Given the description of an element on the screen output the (x, y) to click on. 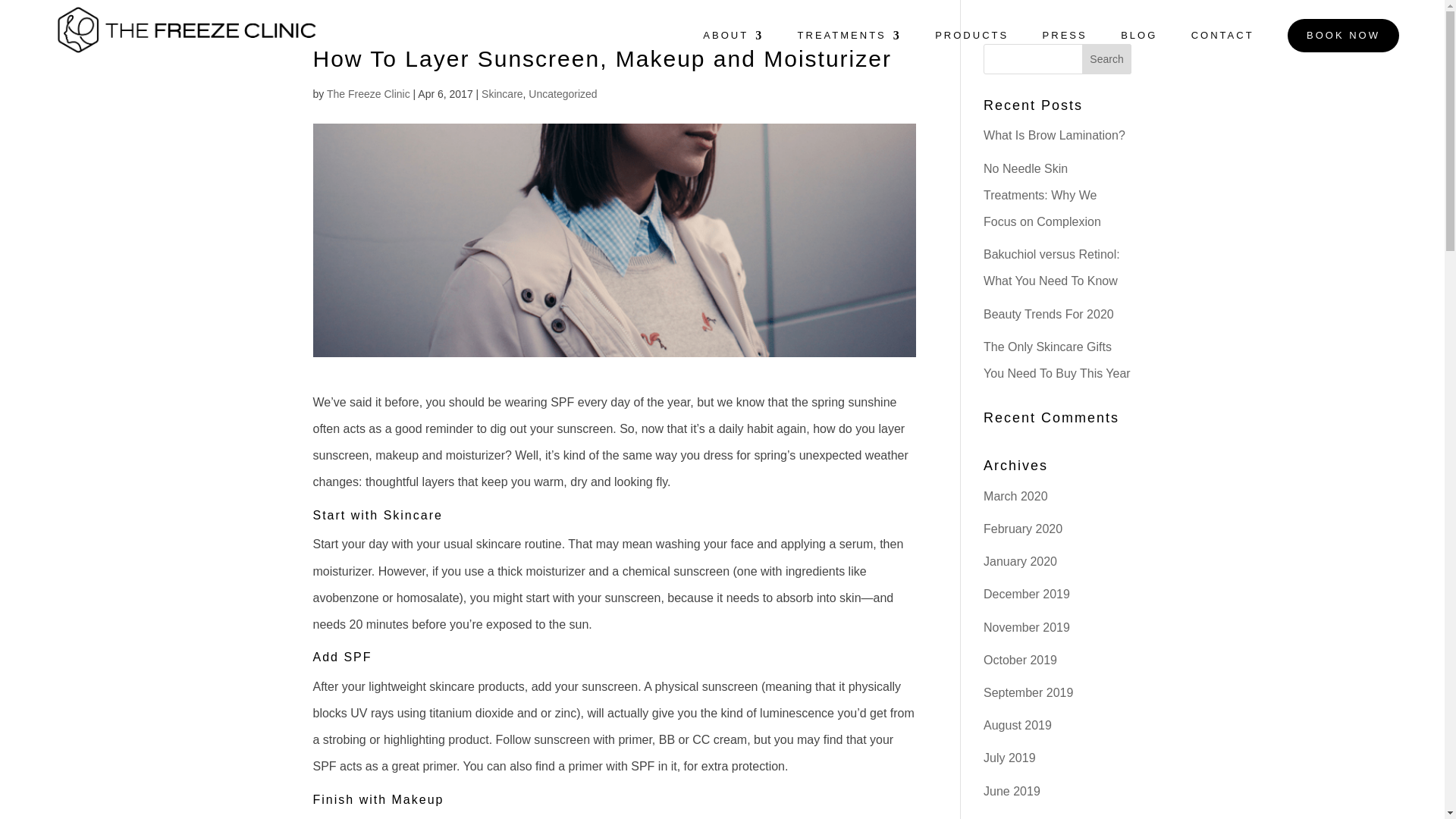
Beauty Trends For 2020 (1048, 314)
Search (1106, 59)
January 2020 (1020, 561)
February 2020 (1023, 528)
No Needle Skin Treatments: Why We Focus on Complexion (1042, 195)
Bakuchiol versus Retinol: What You Need To Know (1051, 267)
March 2020 (1016, 495)
CONTACT (1222, 44)
The Only Skincare Gifts You Need To Buy This Year (1057, 360)
BLOG (1139, 44)
